Given the description of an element on the screen output the (x, y) to click on. 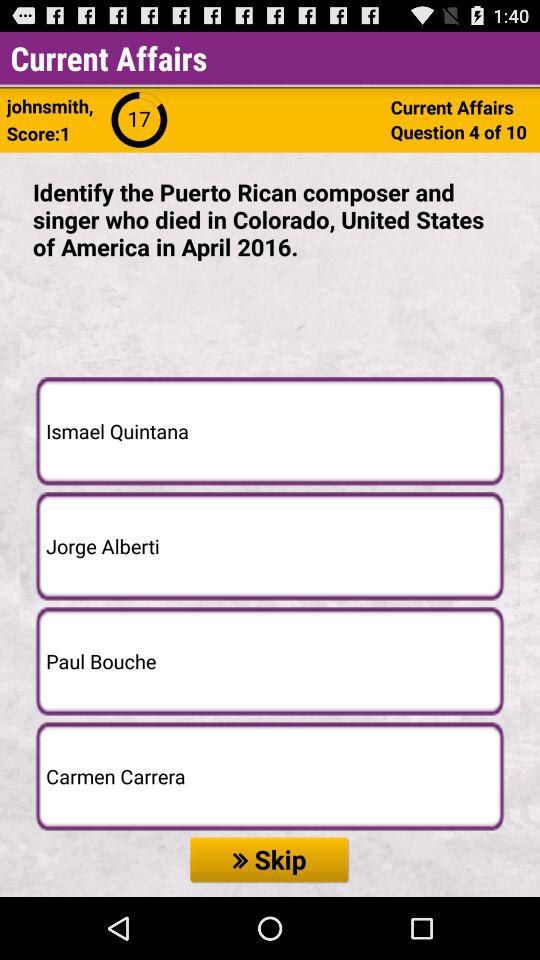
open the ismael quintana button (270, 430)
